Given the description of an element on the screen output the (x, y) to click on. 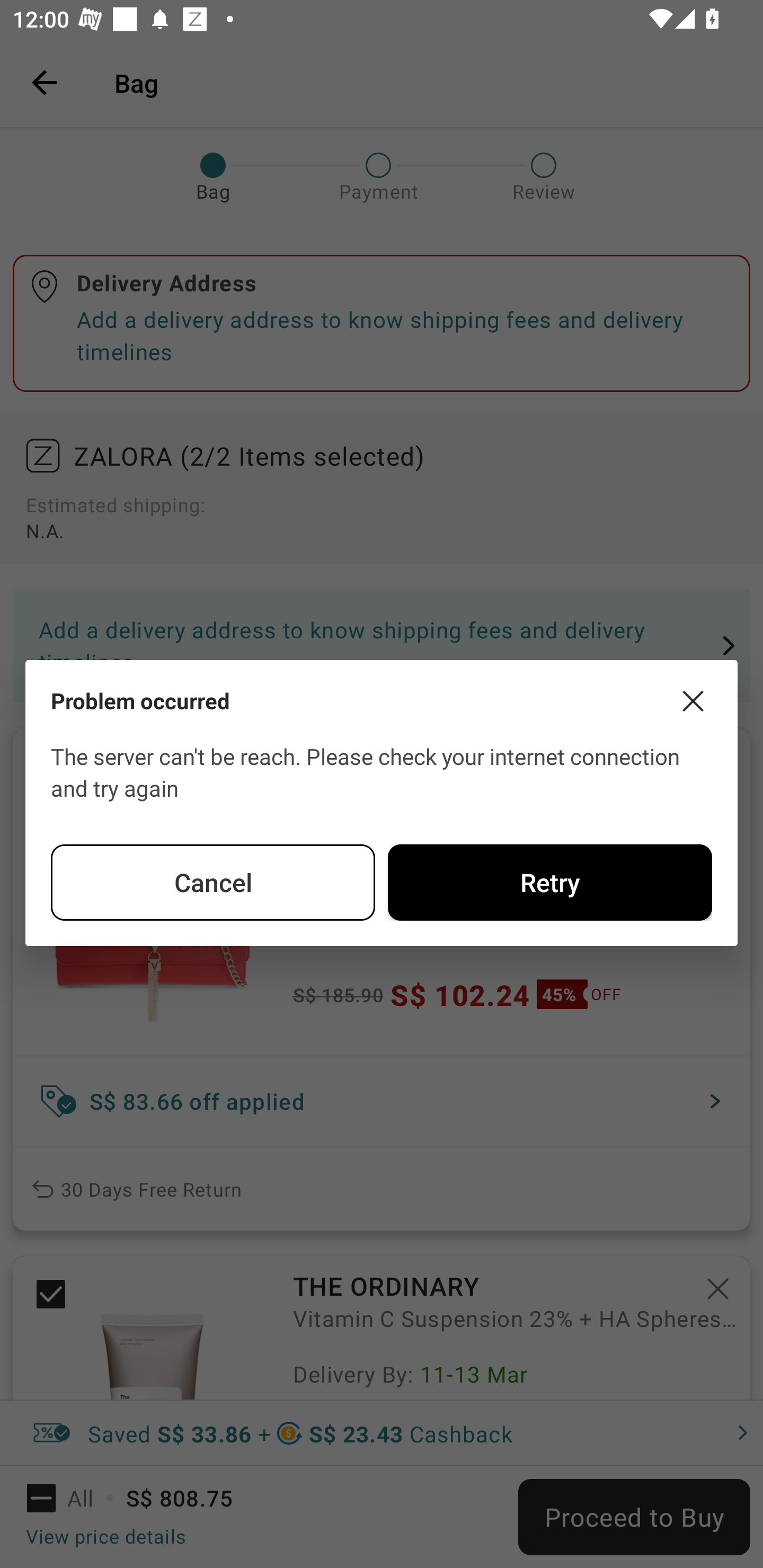
Cancel (213, 882)
Retry (549, 882)
